Given the description of an element on the screen output the (x, y) to click on. 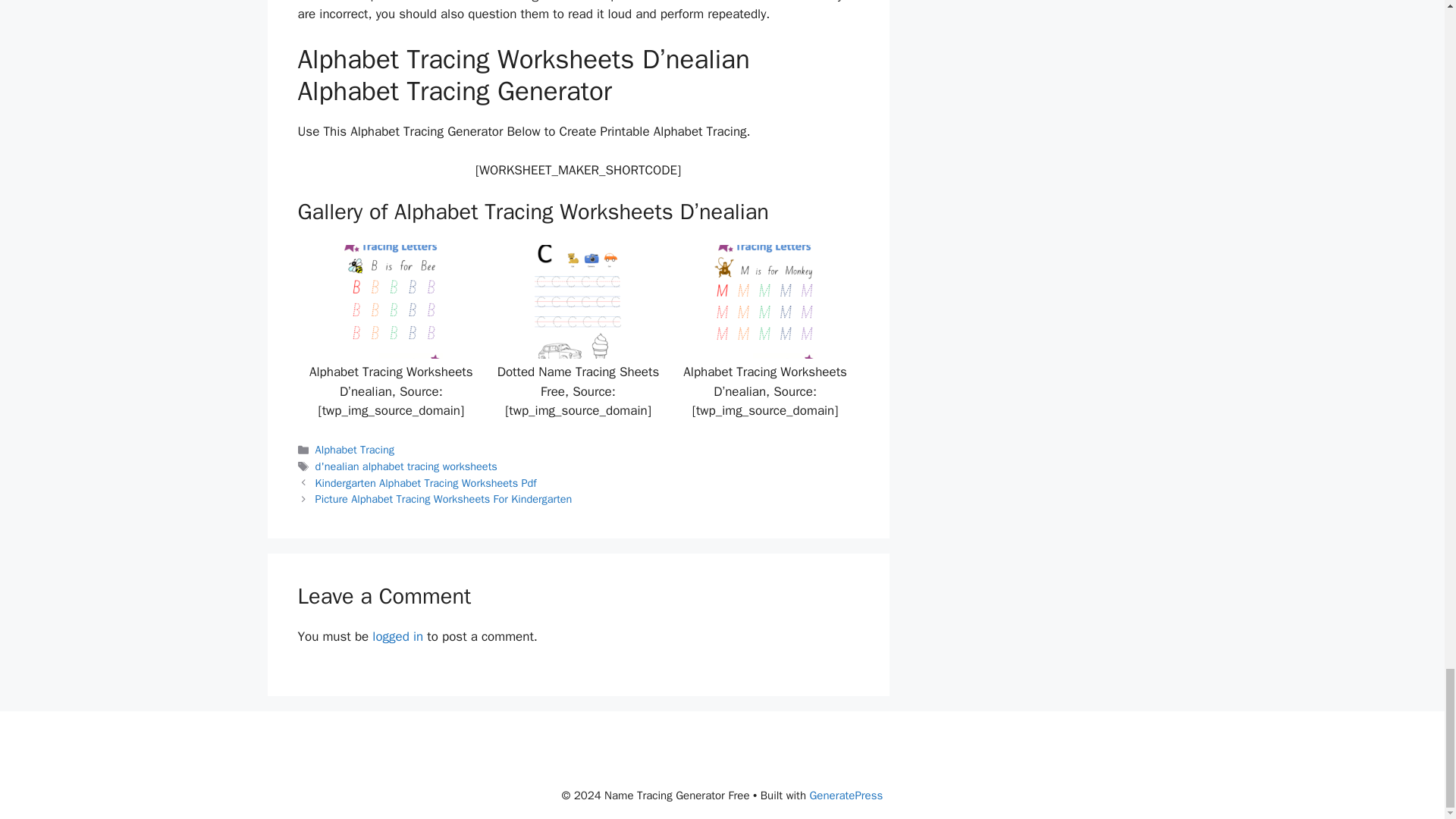
GeneratePress (845, 795)
Picture Alphabet Tracing Worksheets For Kindergarten (443, 499)
Kindergarten Alphabet Tracing Worksheets Pdf (426, 482)
d'nealian alphabet tracing worksheets (406, 466)
logged in (397, 636)
Alphabet Tracing (354, 449)
